Given the description of an element on the screen output the (x, y) to click on. 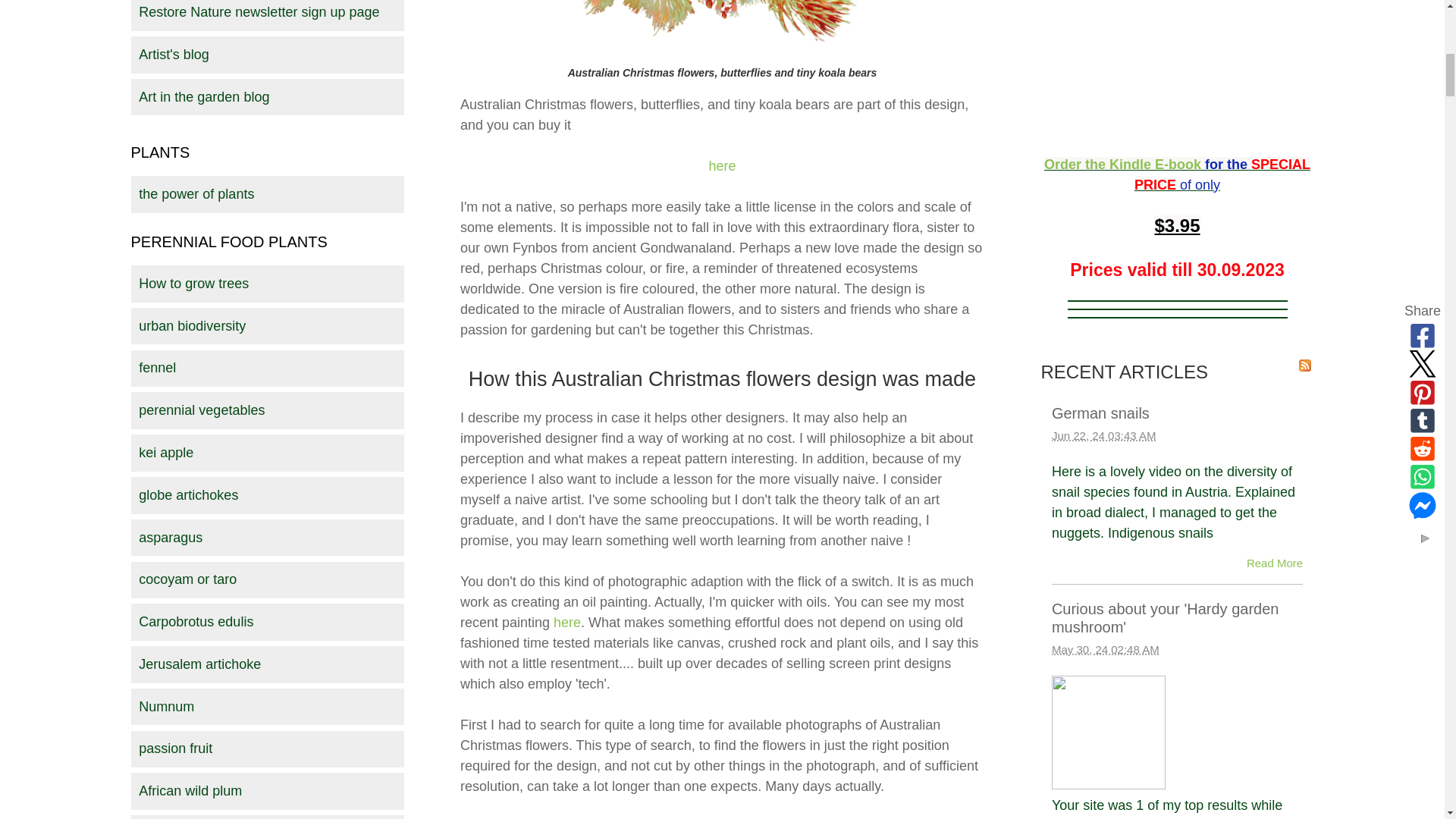
2024-06-22T03:43:44-0400 (1103, 435)
2024-05-30T02:48:07-0400 (1104, 649)
Australian Christmas flowers in fire colours. (722, 29)
